Given the description of an element on the screen output the (x, y) to click on. 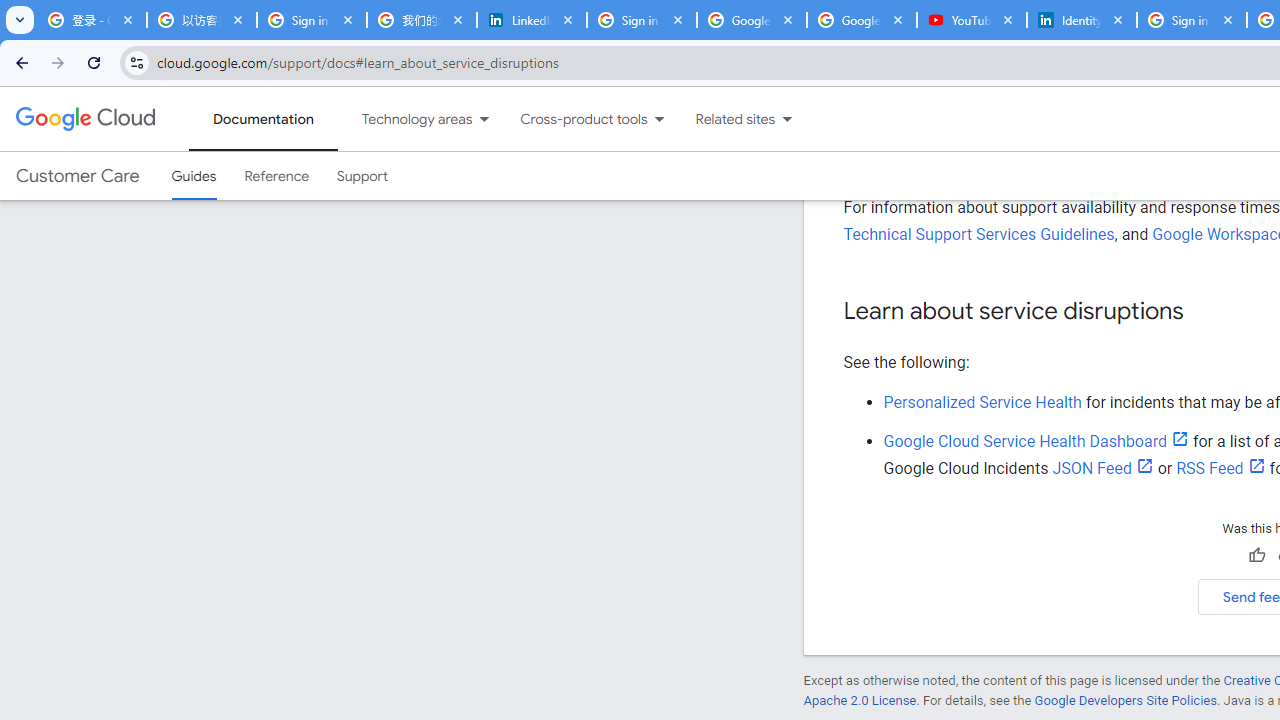
Sign in - Google Accounts (312, 20)
Technical Support Services Guidelines (978, 234)
Dropdown menu for Related sites (787, 119)
Copy link to this section: Learn about service disruptions (1202, 312)
Google Developers Site Policies (1125, 699)
Technology areas (404, 119)
Copy link to this section: Contacting technical support (1178, 77)
RSS Feed (1220, 468)
Documentation, selected (263, 119)
Personalized Service Health (982, 402)
